Given the description of an element on the screen output the (x, y) to click on. 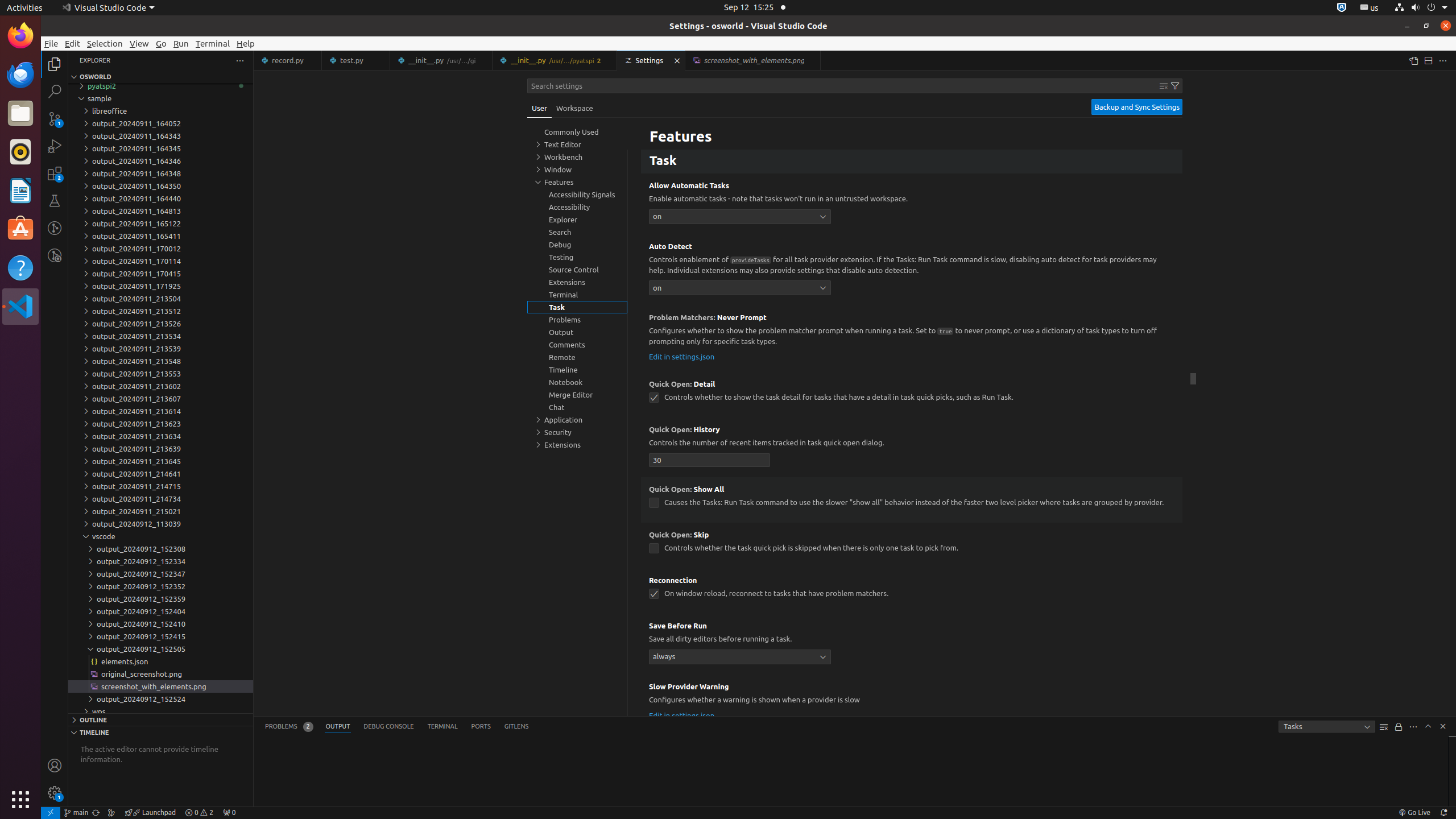
Debug Console (Ctrl+Shift+Y) Element type: page-tab (388, 726)
Active View Switcher Element type: page-tab-list (396, 726)
output_20240911_170415 Element type: tree-item (160, 273)
GitLens Inspect Element type: page-tab (54, 255)
OSWorld (Git) - Synchronize Changes Element type: push-button (95, 812)
